Given the description of an element on the screen output the (x, y) to click on. 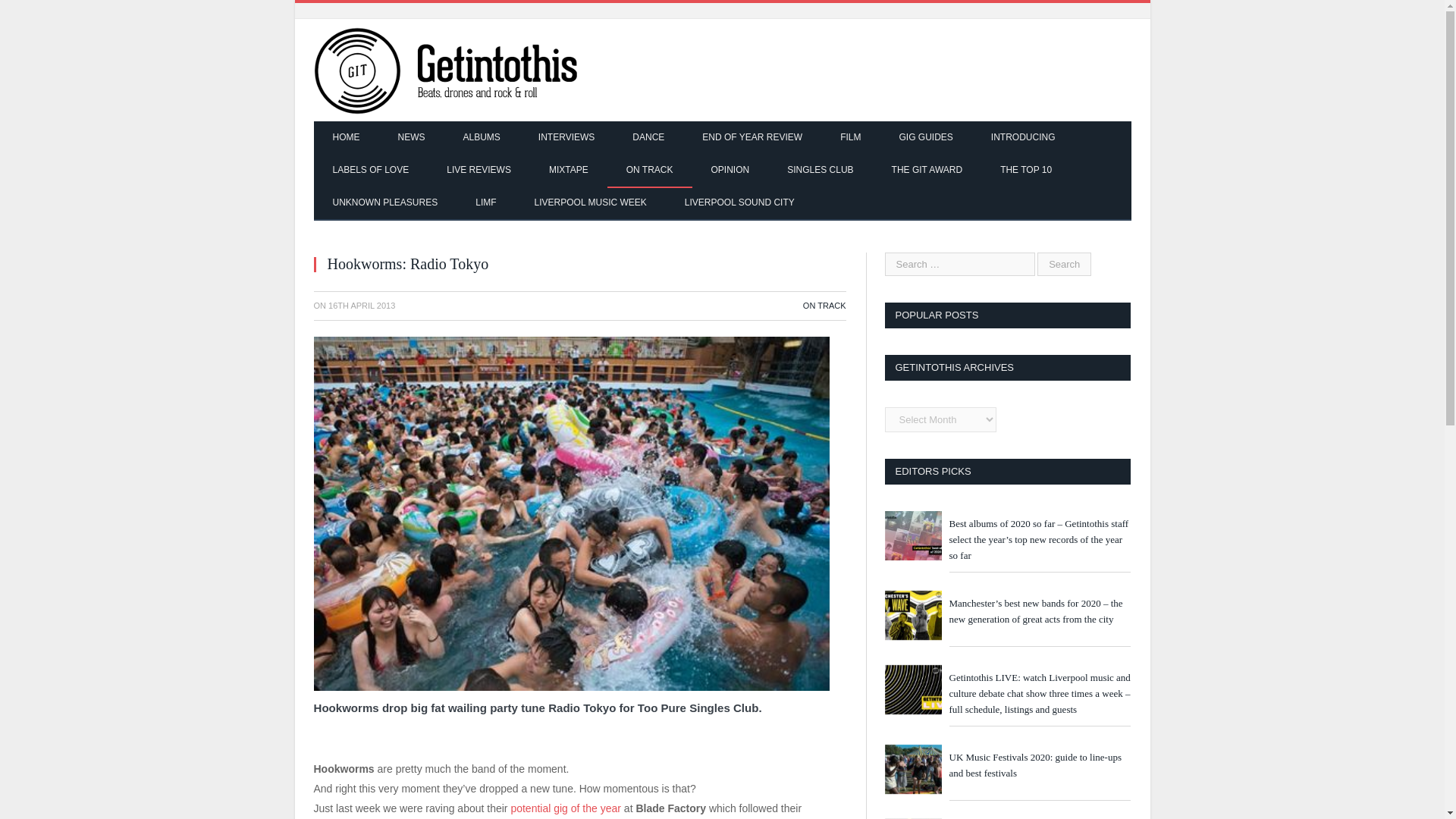
2013-04-16 (361, 305)
ON TRACK (824, 305)
Search (1063, 264)
MIXTAPE (568, 170)
THE GIT AWARD (926, 170)
SINGLES CLUB (820, 170)
ALBUMS (481, 138)
LABELS OF LOVE (371, 170)
HOME (346, 138)
FILM (850, 138)
INTERVIEWS (565, 138)
LIVERPOOL MUSIC WEEK (590, 203)
LIVE REVIEWS (478, 170)
DANCE (647, 138)
